Given the description of an element on the screen output the (x, y) to click on. 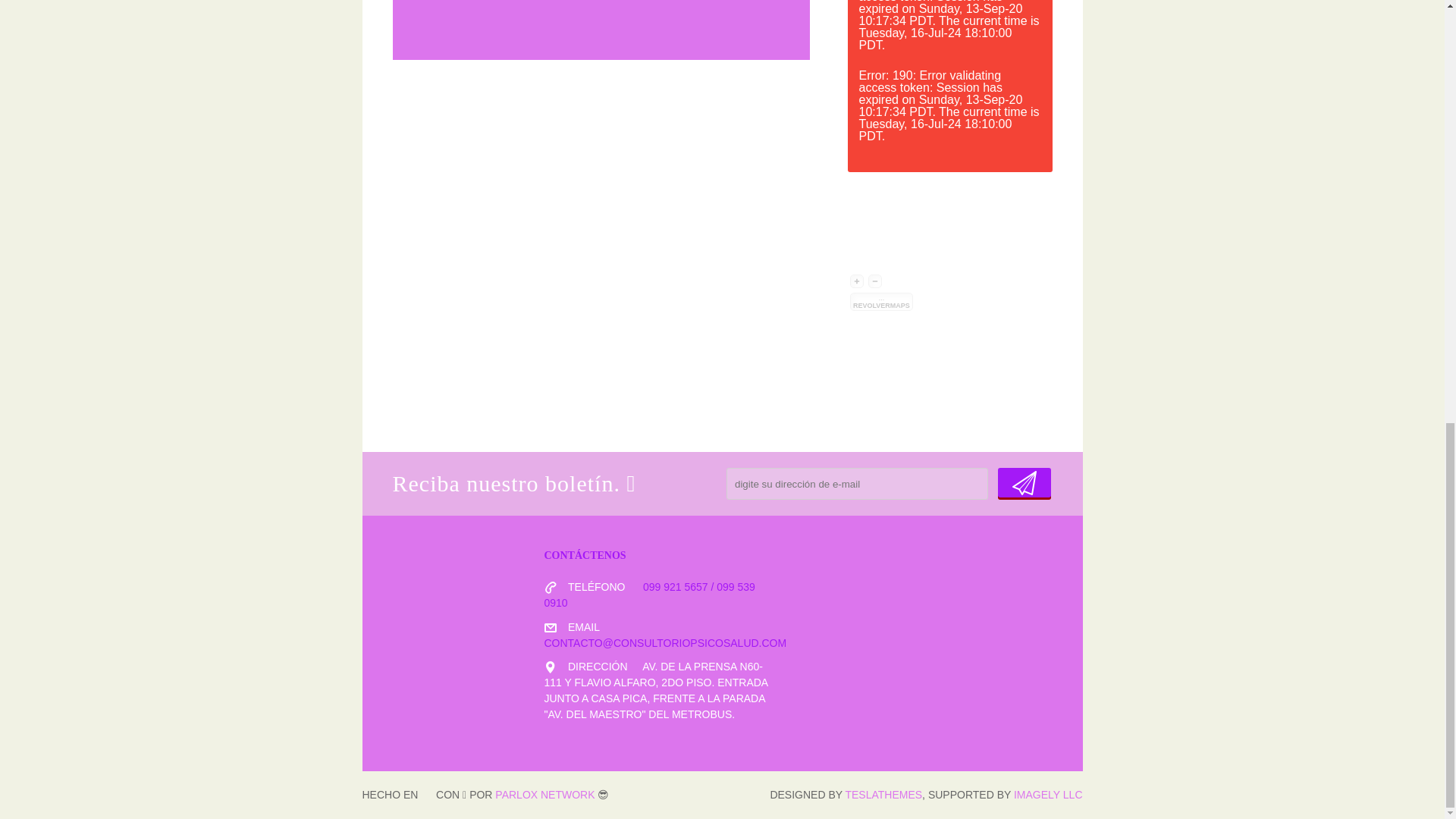
PARLOX NETWORK (544, 794)
ENVIAR (1024, 482)
TESLATHEMES (882, 794)
IMAGELY LLC (1048, 794)
